Given the description of an element on the screen output the (x, y) to click on. 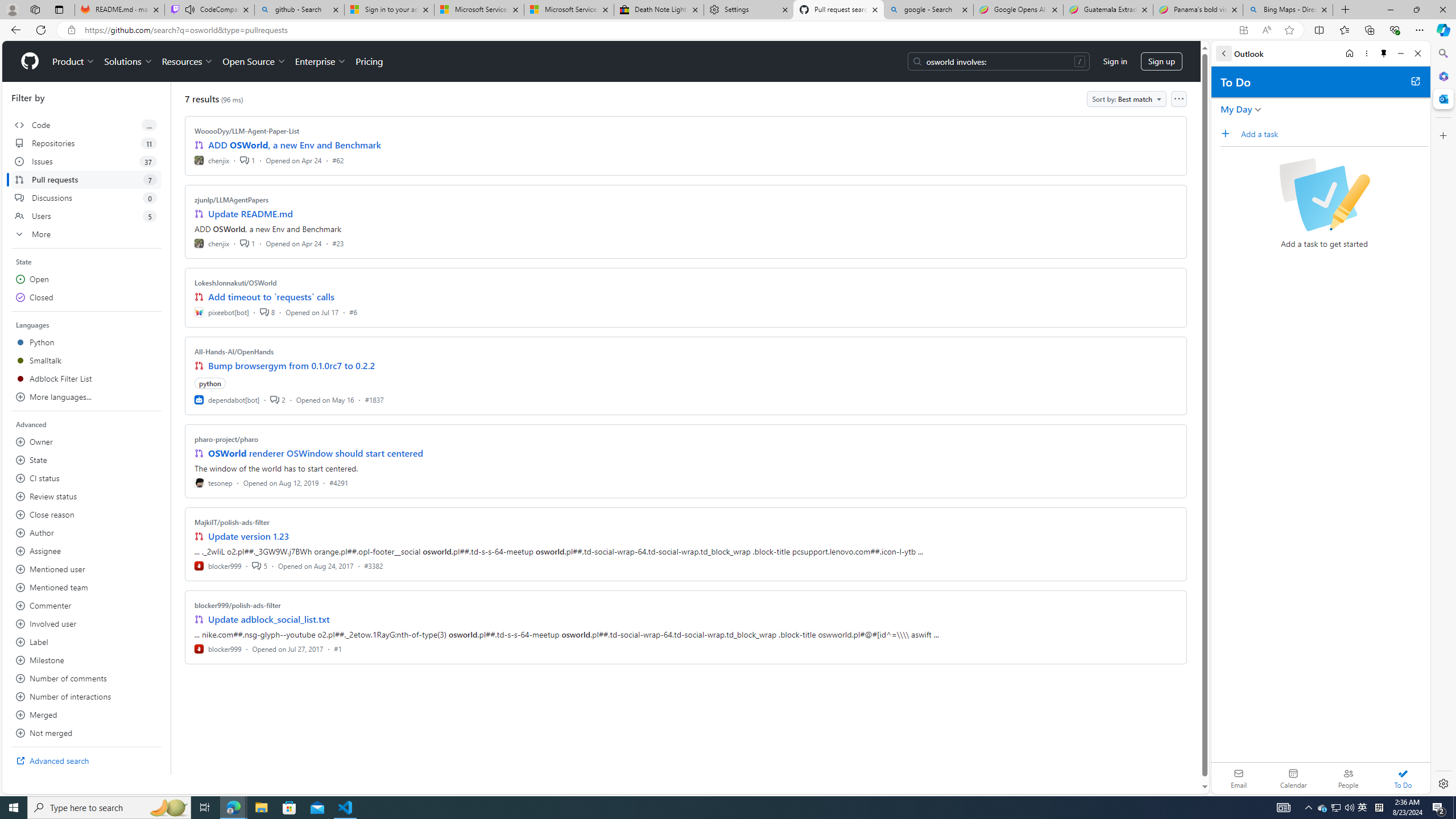
Open Source (254, 60)
chenjix (211, 242)
zjunlp/LLMAgentPapers (232, 199)
